Given the description of an element on the screen output the (x, y) to click on. 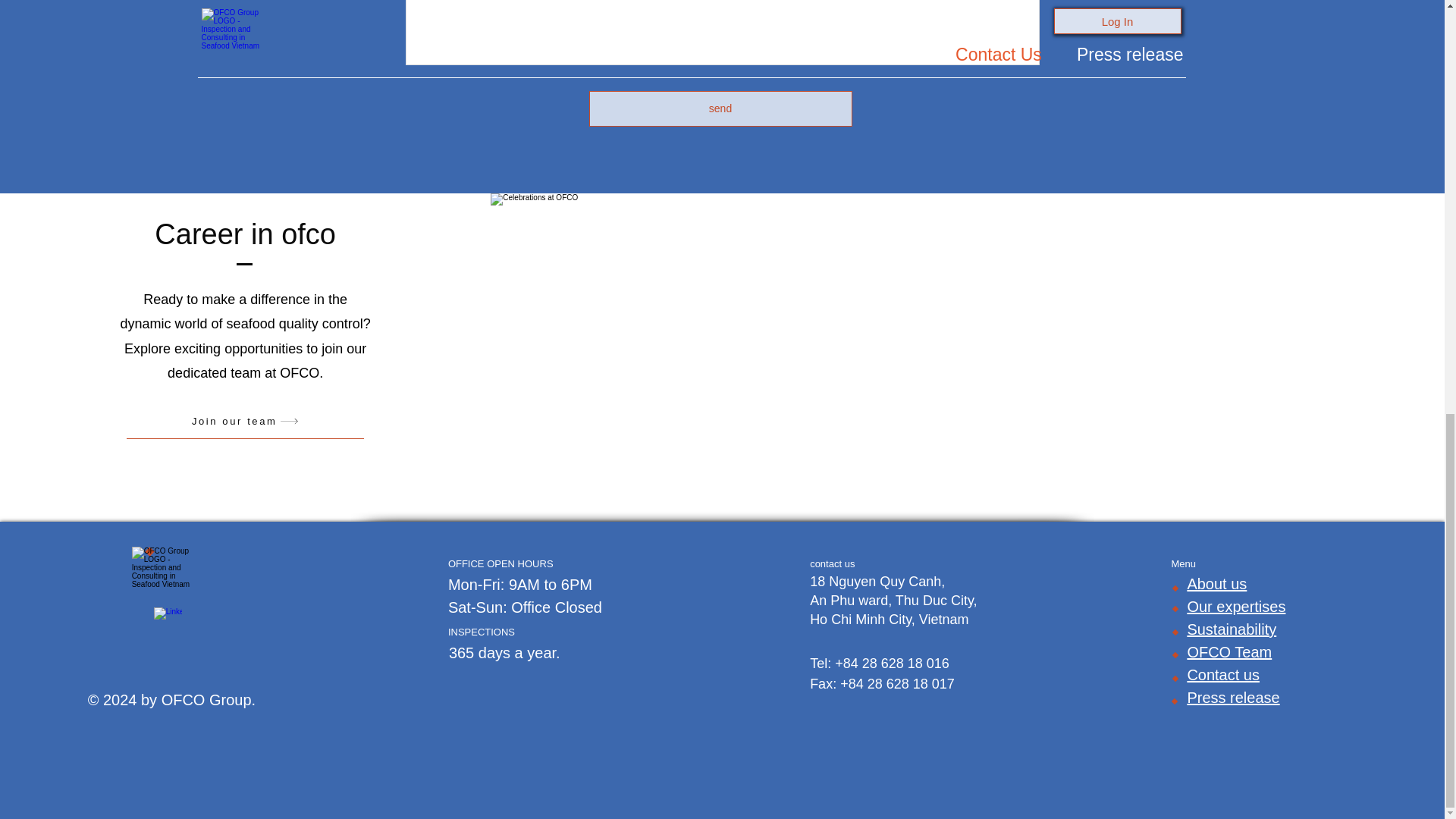
Join our team (245, 421)
Press release (1232, 697)
About us (1216, 583)
send (719, 108)
Contact us (1222, 674)
Sustainability (1231, 629)
Our expertises (1235, 606)
OFCO Team (1228, 651)
